Given the description of an element on the screen output the (x, y) to click on. 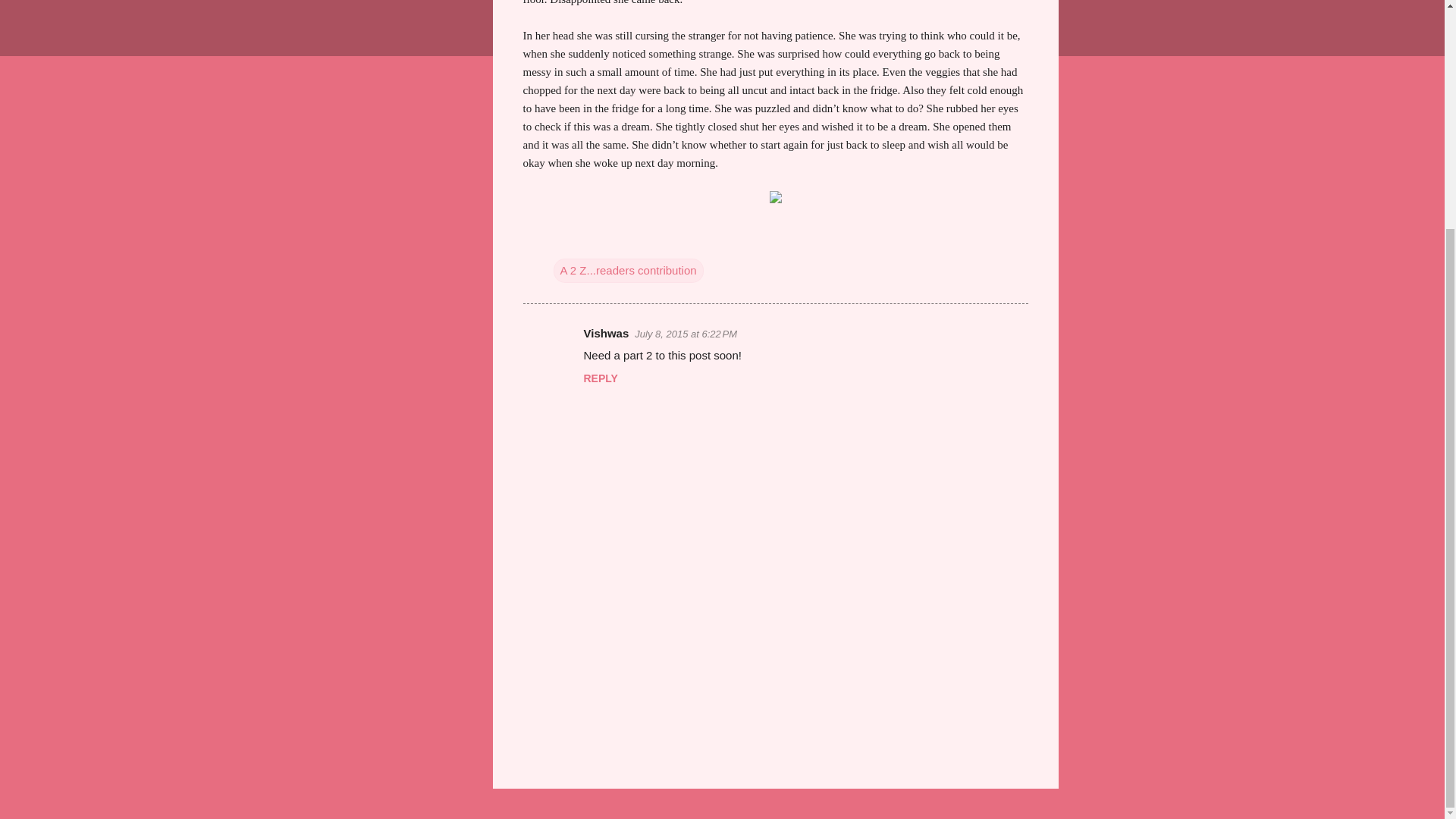
Vishwas (605, 332)
A 2 Z...readers contribution (628, 269)
REPLY (600, 378)
